Given the description of an element on the screen output the (x, y) to click on. 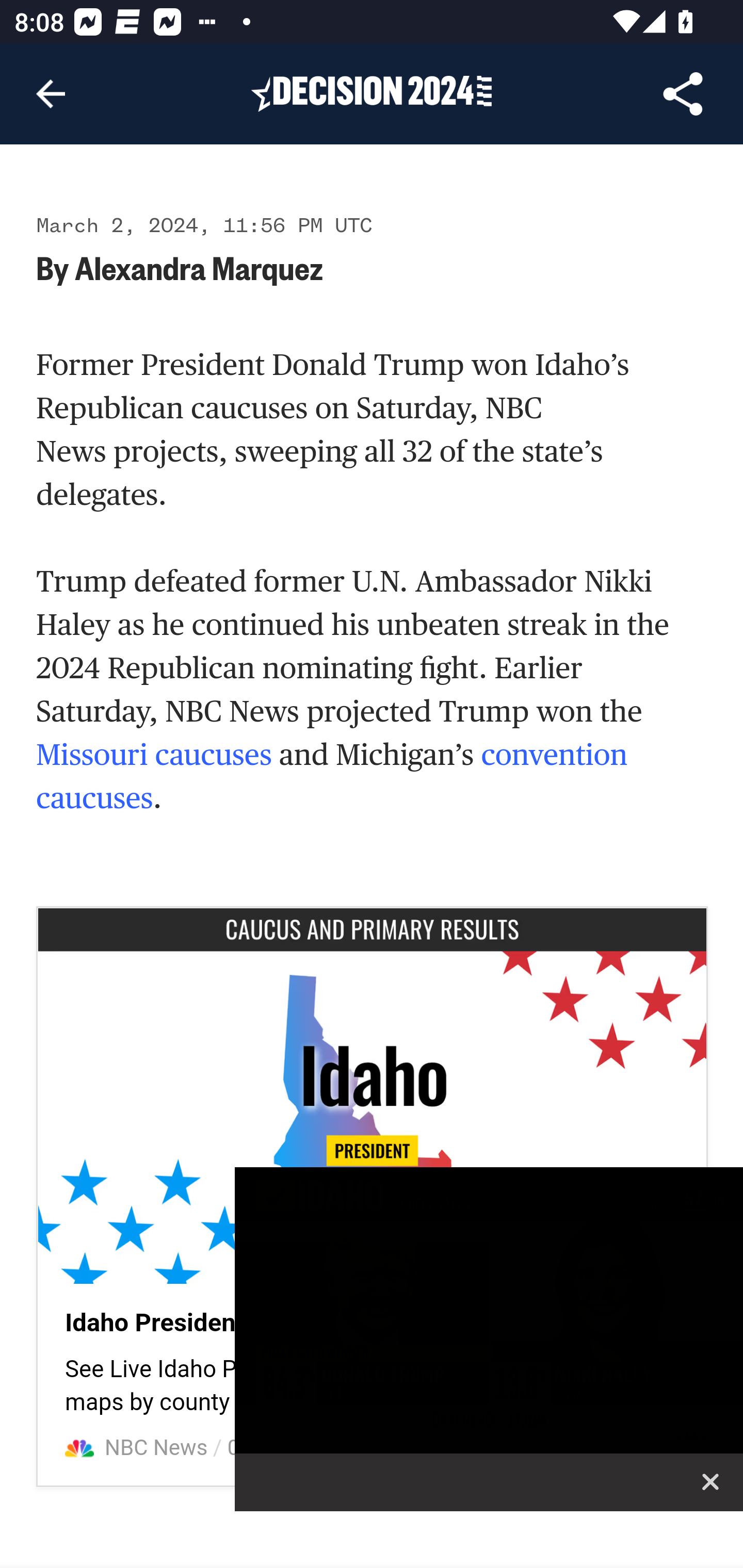
Navigate up (50, 93)
Share Article, button (683, 94)
Header, Decision 2024 (371, 93)
Missouri caucuses (154, 756)
convention caucuses (332, 777)
NBC News (156, 1448)
